Given the description of an element on the screen output the (x, y) to click on. 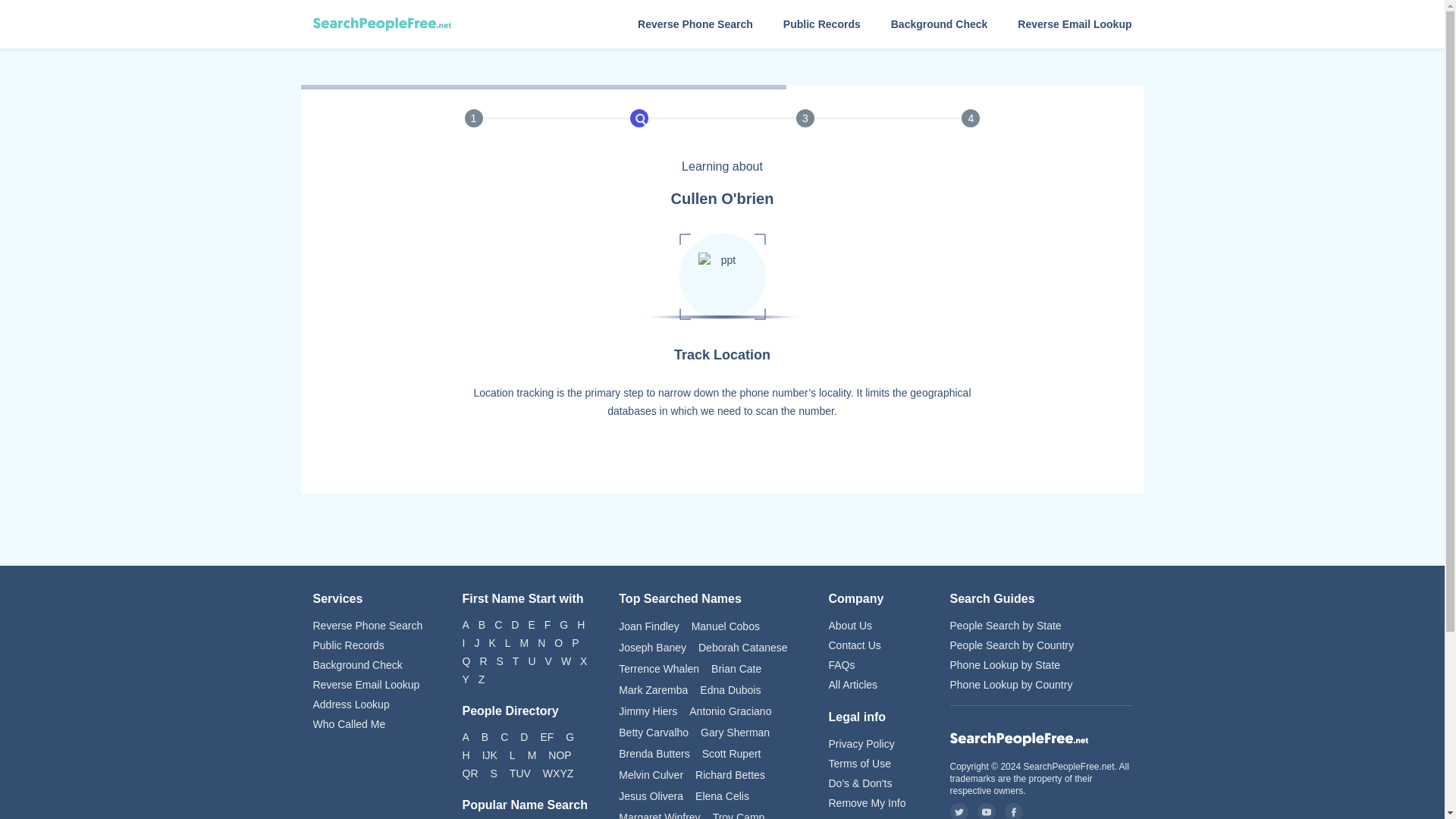
Reverse Email Lookup (1074, 23)
Background Check (371, 664)
Reverse Phone Search (371, 625)
Reverse Phone Search (694, 23)
Public Records (371, 645)
Reverse Email Lookup (371, 684)
Address Lookup (371, 704)
Public Records (821, 23)
Background Check (939, 23)
Who Called Me (371, 723)
